Given the description of an element on the screen output the (x, y) to click on. 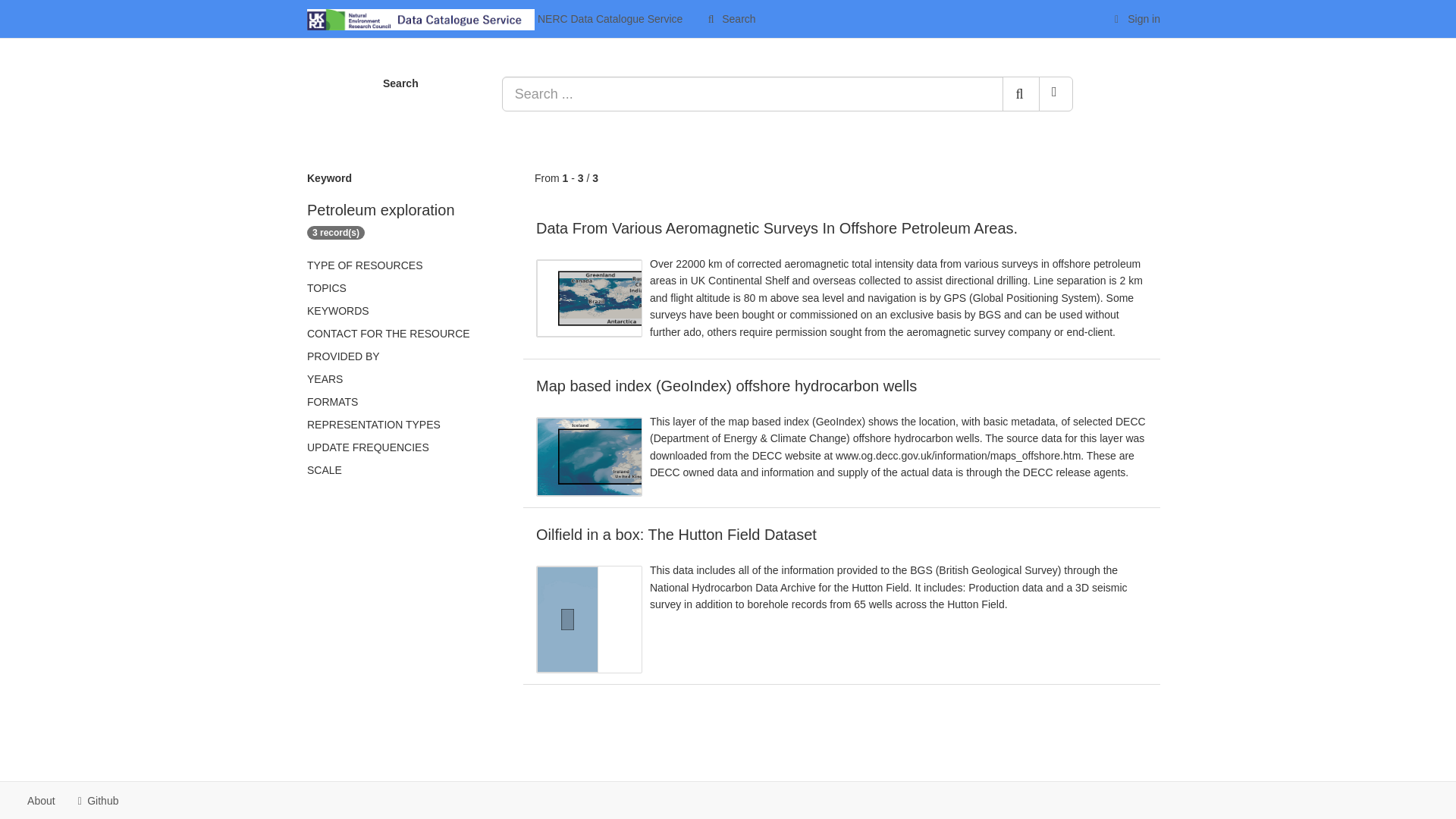
  Sign in (1135, 18)
Search (1021, 93)
Sign in (1135, 18)
Reset (1056, 93)
Search (730, 18)
  Search (730, 18)
NERC Data Catalogue Service (494, 18)
